Given the description of an element on the screen output the (x, y) to click on. 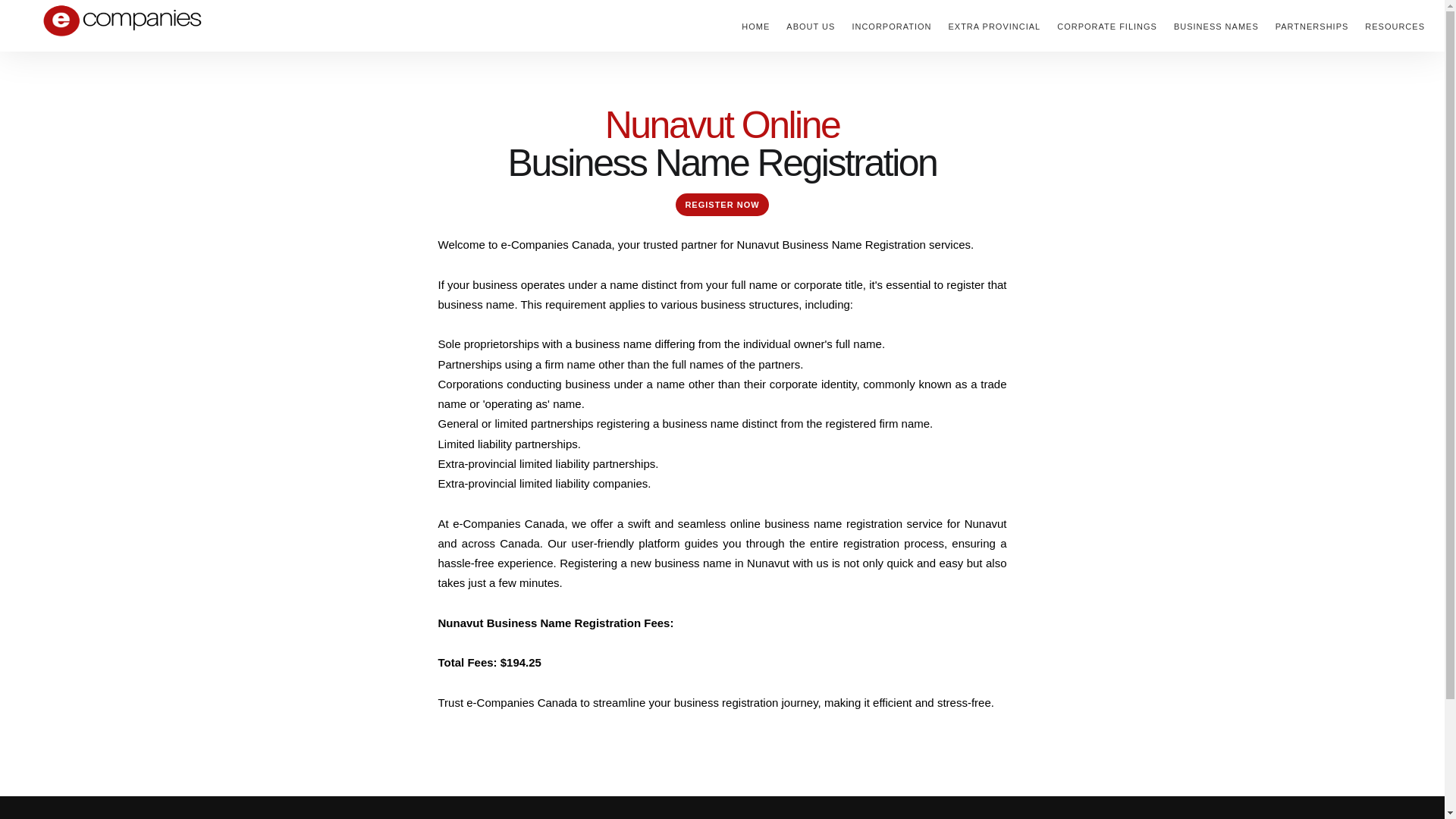
ABOUT US (810, 25)
REGISTER NOW (721, 204)
EXTRA PROVINCIAL (993, 25)
INCORPORATION (891, 25)
